Given the description of an element on the screen output the (x, y) to click on. 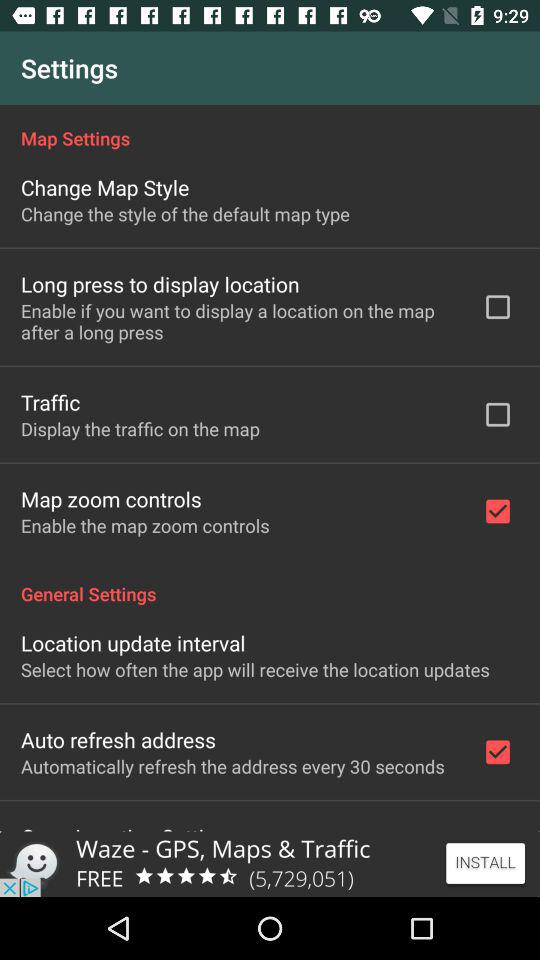
scroll until map settings item (270, 127)
